Given the description of an element on the screen output the (x, y) to click on. 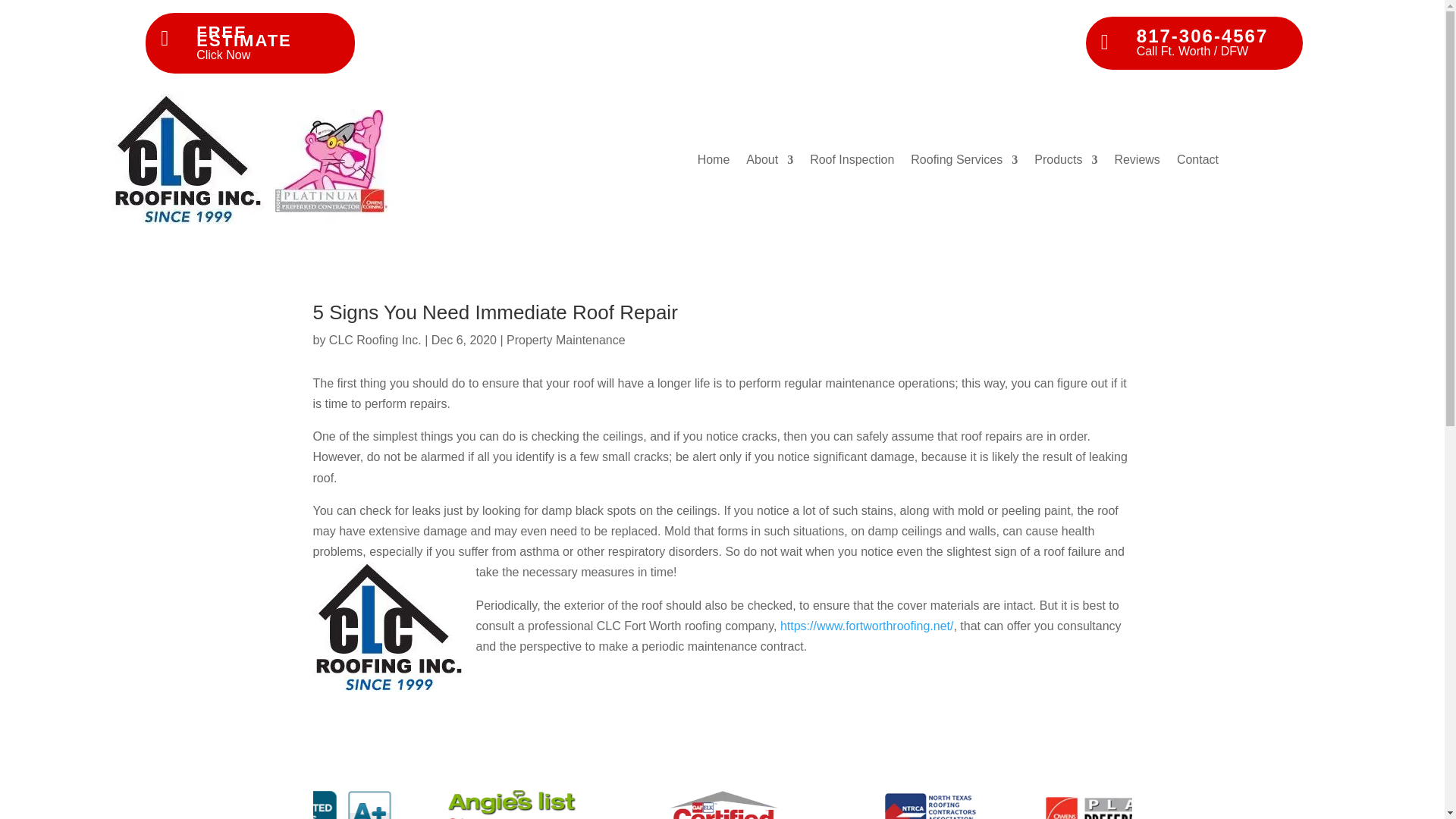
Contact (1197, 162)
Reviews (1135, 162)
northtexas (929, 802)
About (769, 162)
bbb-1 (306, 800)
FREE ESTIMATE (244, 35)
Roof Inspection (851, 162)
Posts by CLC Roofing Inc. (375, 339)
Roofing Services (964, 162)
